Given the description of an element on the screen output the (x, y) to click on. 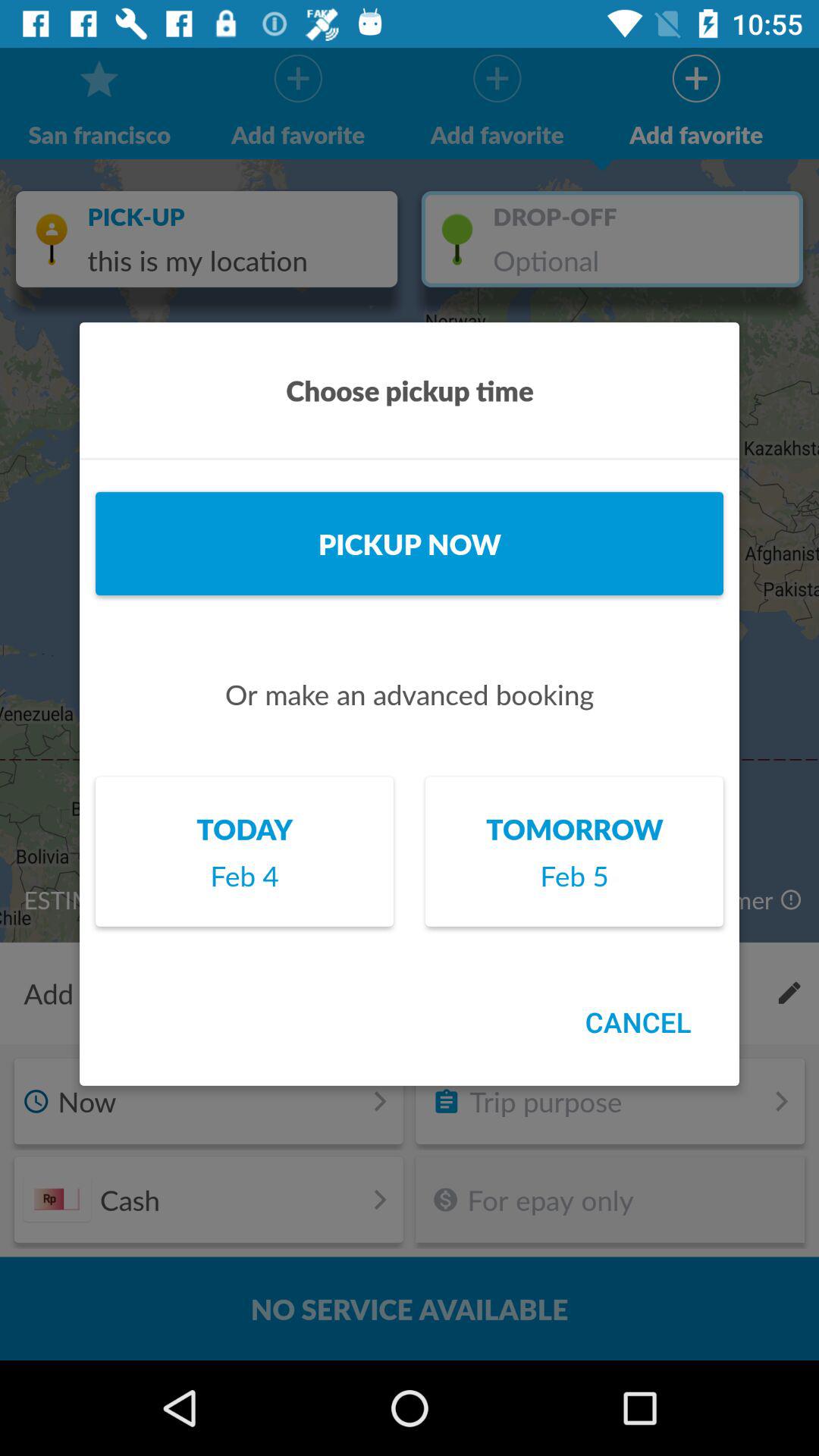
tap the cancel (638, 1021)
